Given the description of an element on the screen output the (x, y) to click on. 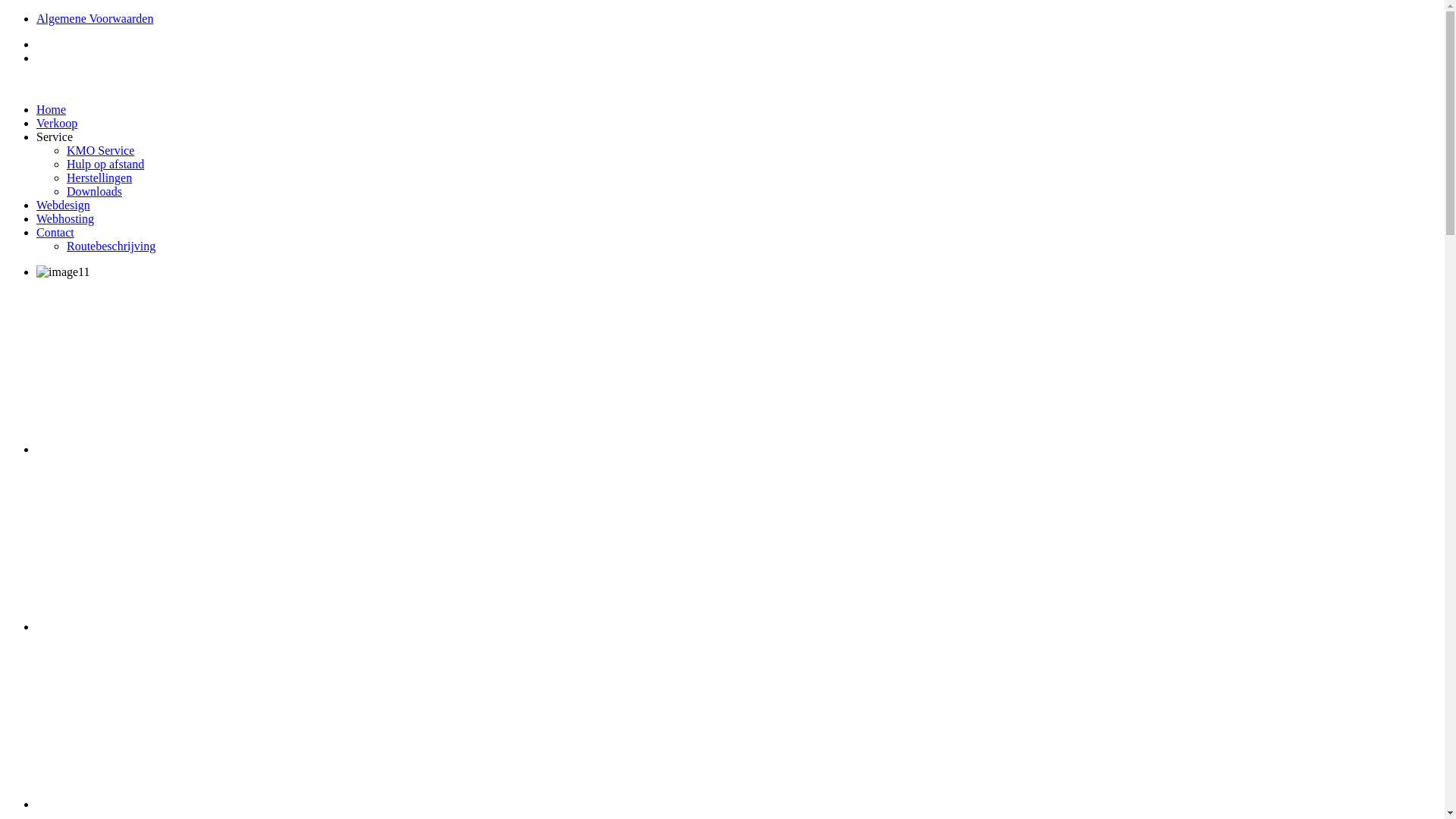
Verkoop Element type: text (56, 122)
Hulp op afstand Element type: text (105, 163)
Webhosting Element type: text (65, 218)
Home Element type: text (50, 109)
Contact Element type: text (55, 231)
Downloads Element type: text (94, 191)
Webdesign Element type: text (63, 204)
Herstellingen Element type: text (98, 177)
Routebeschrijving Element type: text (110, 245)
Algemene Voorwaarden Element type: text (94, 18)
KMO Service Element type: text (100, 150)
